Given the description of an element on the screen output the (x, y) to click on. 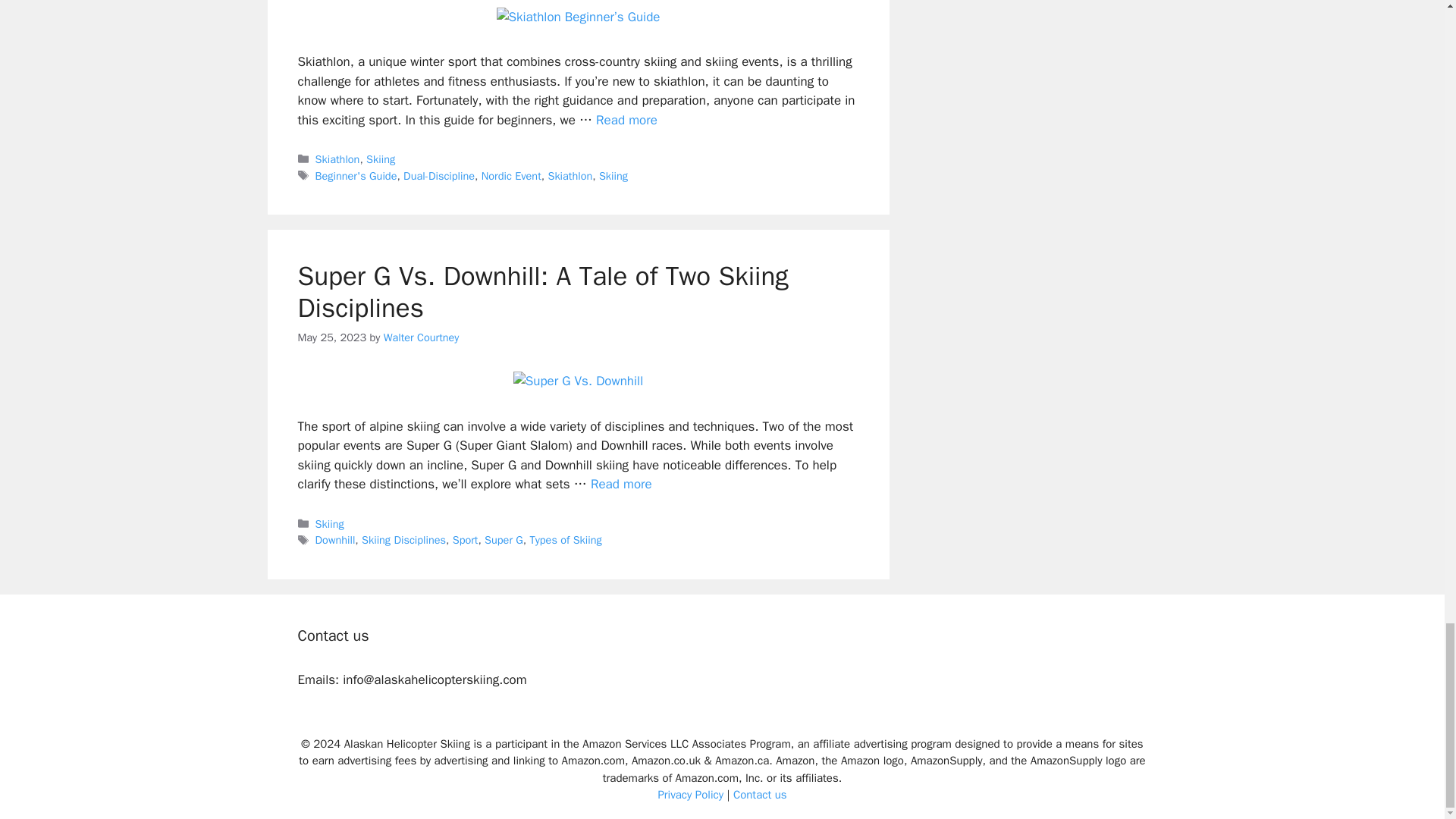
View all posts by Walter Courtney (422, 336)
Super G Vs. Downhill: A Tale of Two Skiing Disciplines (621, 483)
